Given the description of an element on the screen output the (x, y) to click on. 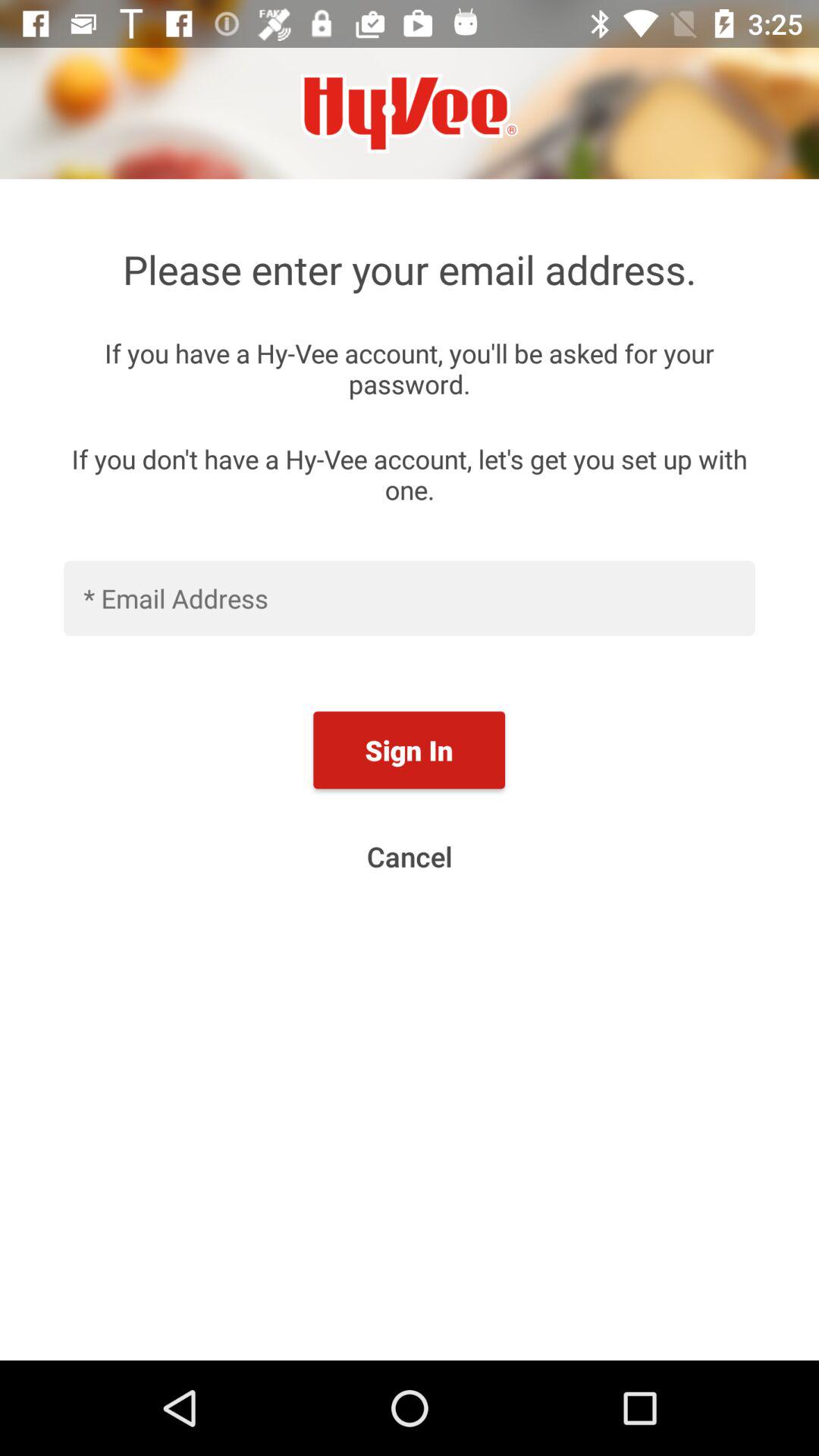
turn off the sign in (409, 749)
